Given the description of an element on the screen output the (x, y) to click on. 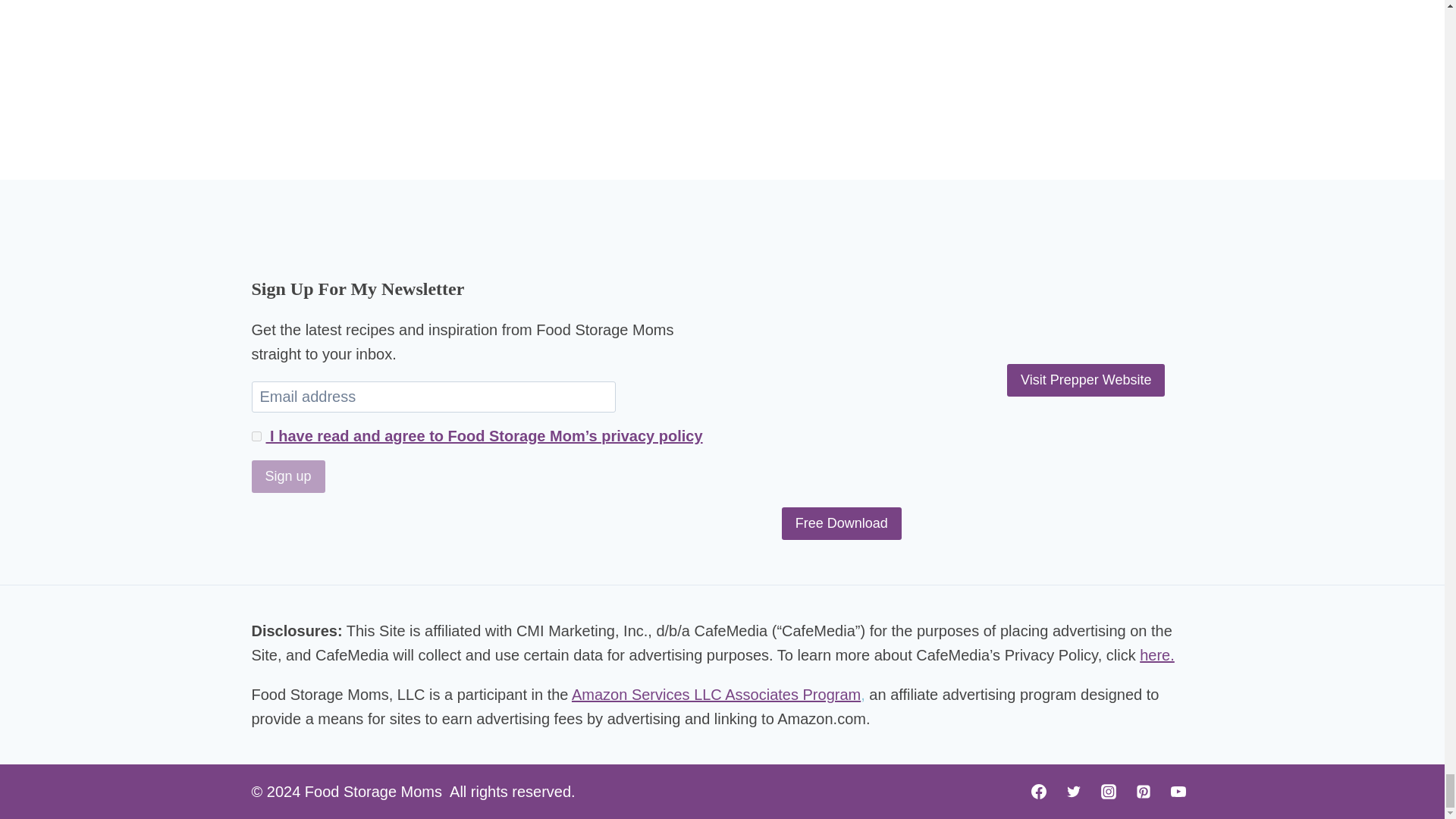
1 (256, 436)
Sign up (287, 476)
